Given the description of an element on the screen output the (x, y) to click on. 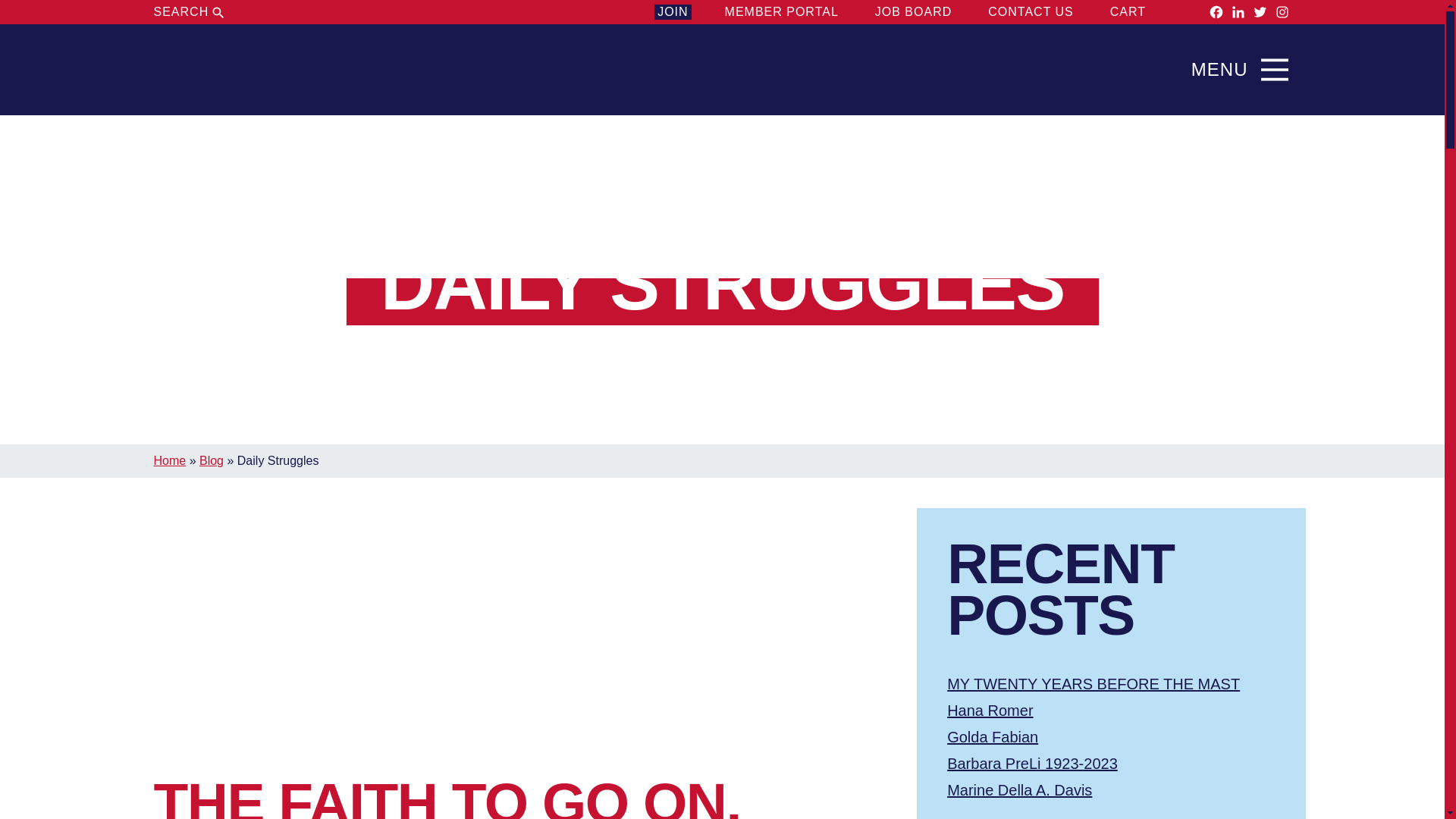
Women Marines Association (227, 69)
Linkedin (1237, 12)
MENU (1244, 69)
Instagram (1281, 12)
CONTACT US (1031, 11)
JOB BOARD (913, 11)
Facebook (1216, 12)
CART (1141, 12)
JOIN (671, 11)
MEMBER PORTAL (781, 11)
Twitter (1259, 12)
SEARCH (189, 11)
SKIP TO MAIN CONTENT (721, 37)
